Given the description of an element on the screen output the (x, y) to click on. 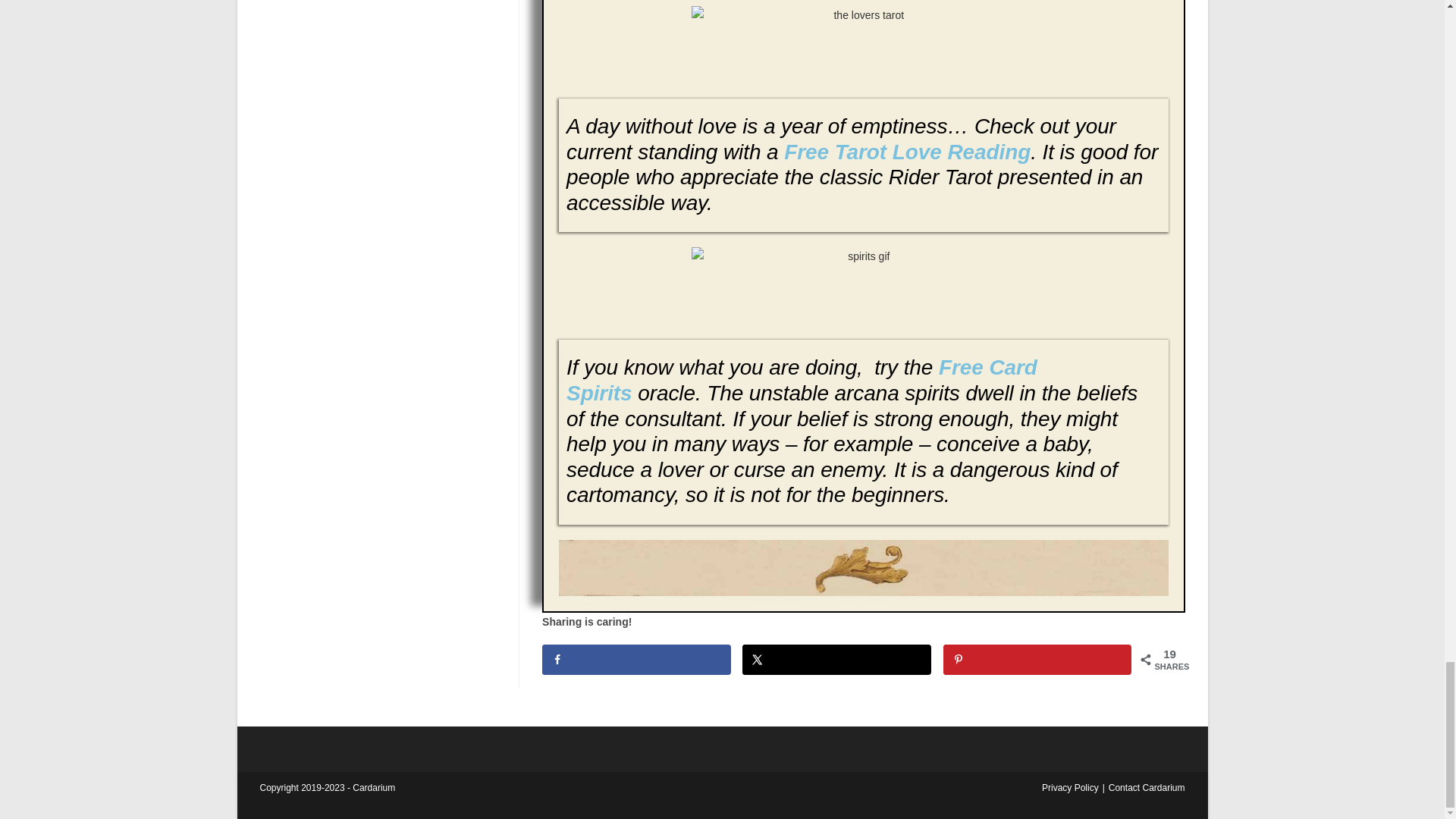
Save to Pinterest (1037, 659)
Share on X (836, 659)
Share on Facebook (635, 659)
